Given the description of an element on the screen output the (x, y) to click on. 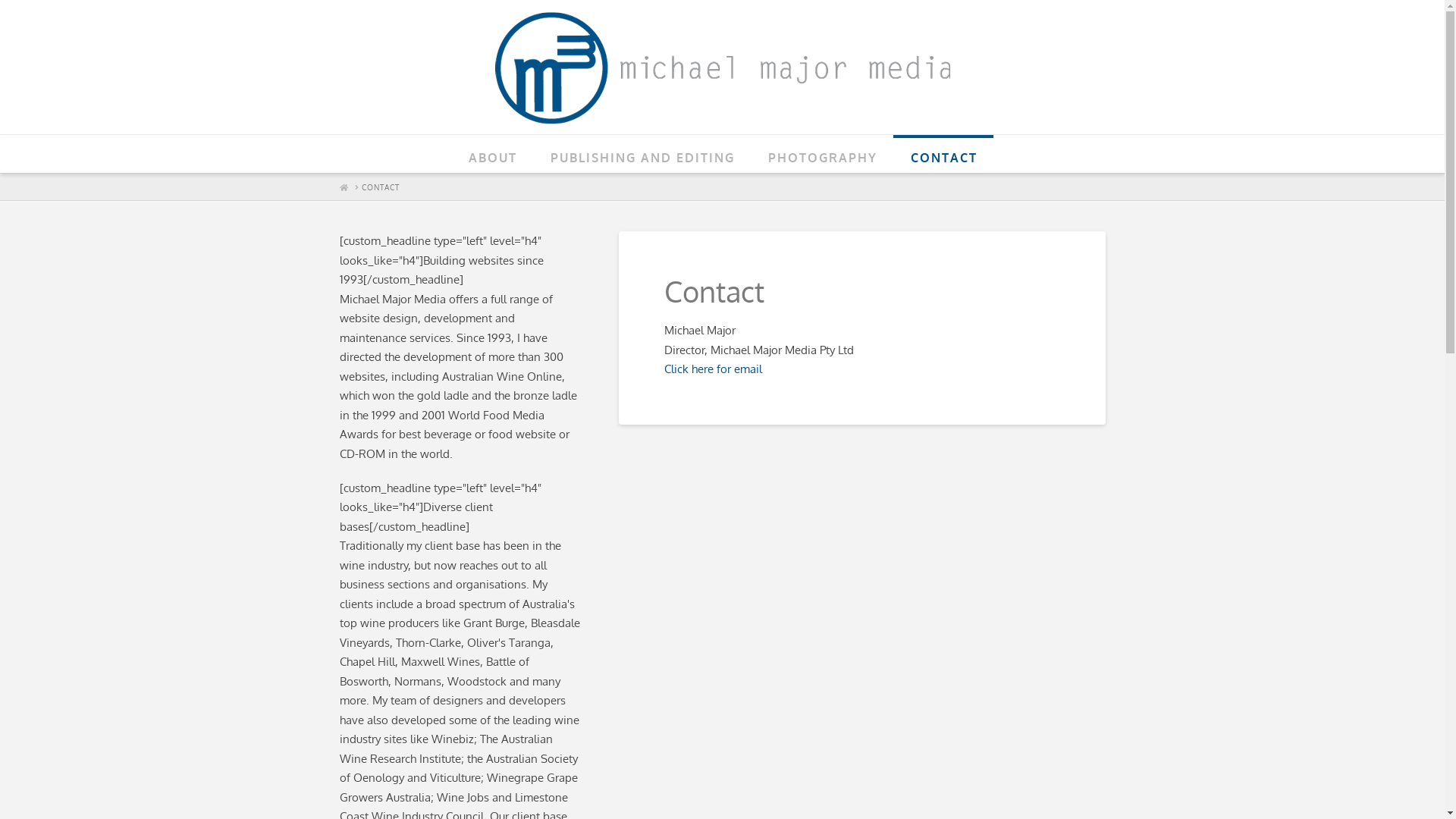
PUBLISHING AND EDITING Element type: text (641, 153)
CONTACT Element type: text (379, 187)
ABOUT Element type: text (492, 153)
PHOTOGRAPHY Element type: text (821, 153)
CONTACT Element type: text (943, 153)
HOME Element type: text (343, 187)
Click here for email Element type: text (713, 368)
